Given the description of an element on the screen output the (x, y) to click on. 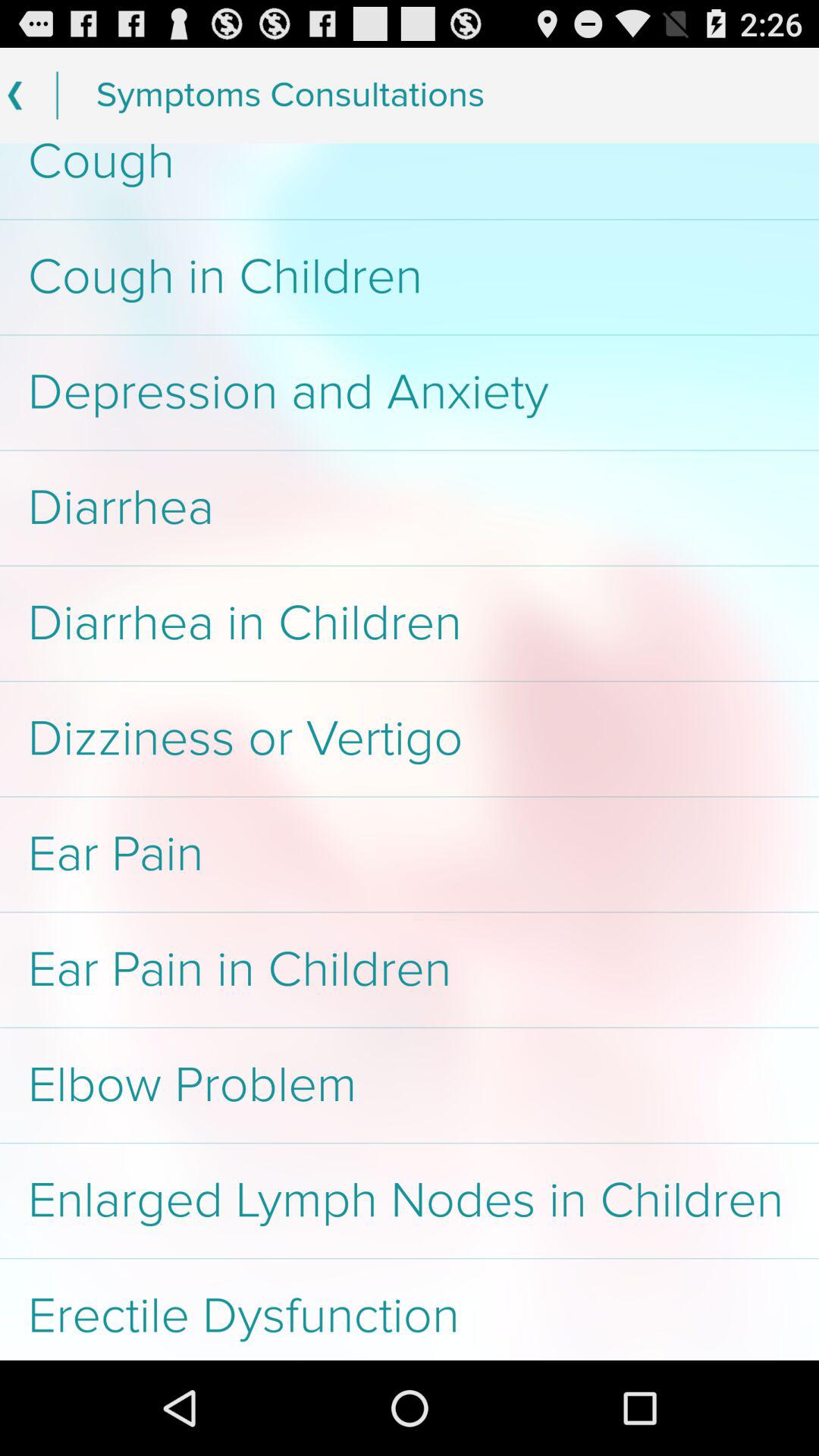
tap the icon below the ear pain in app (409, 1085)
